Given the description of an element on the screen output the (x, y) to click on. 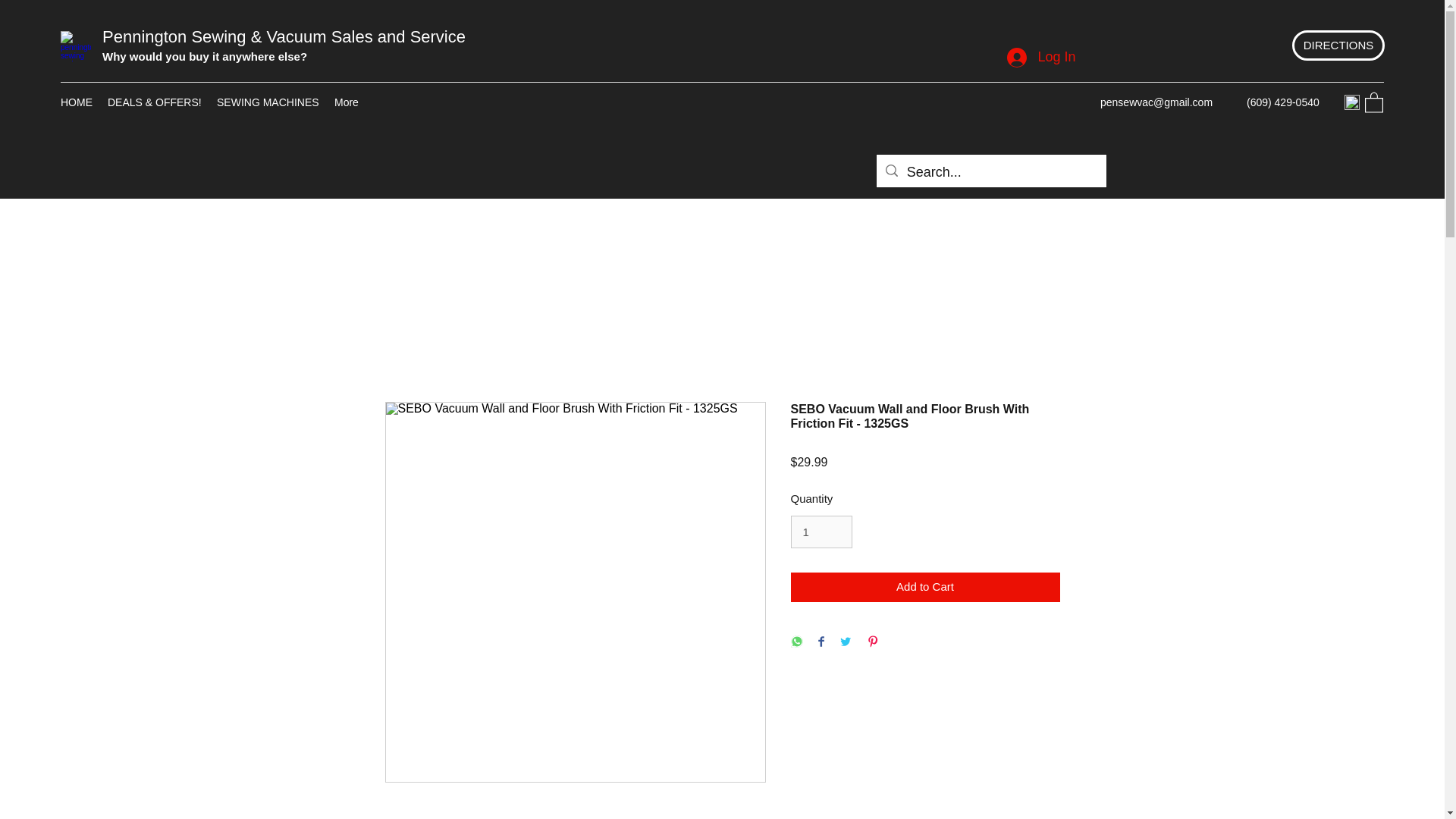
1 (820, 531)
Log In (1040, 57)
HOME (76, 101)
Add to Cart (924, 586)
SEWING MACHINES (267, 101)
DIRECTIONS (1338, 45)
